Given the description of an element on the screen output the (x, y) to click on. 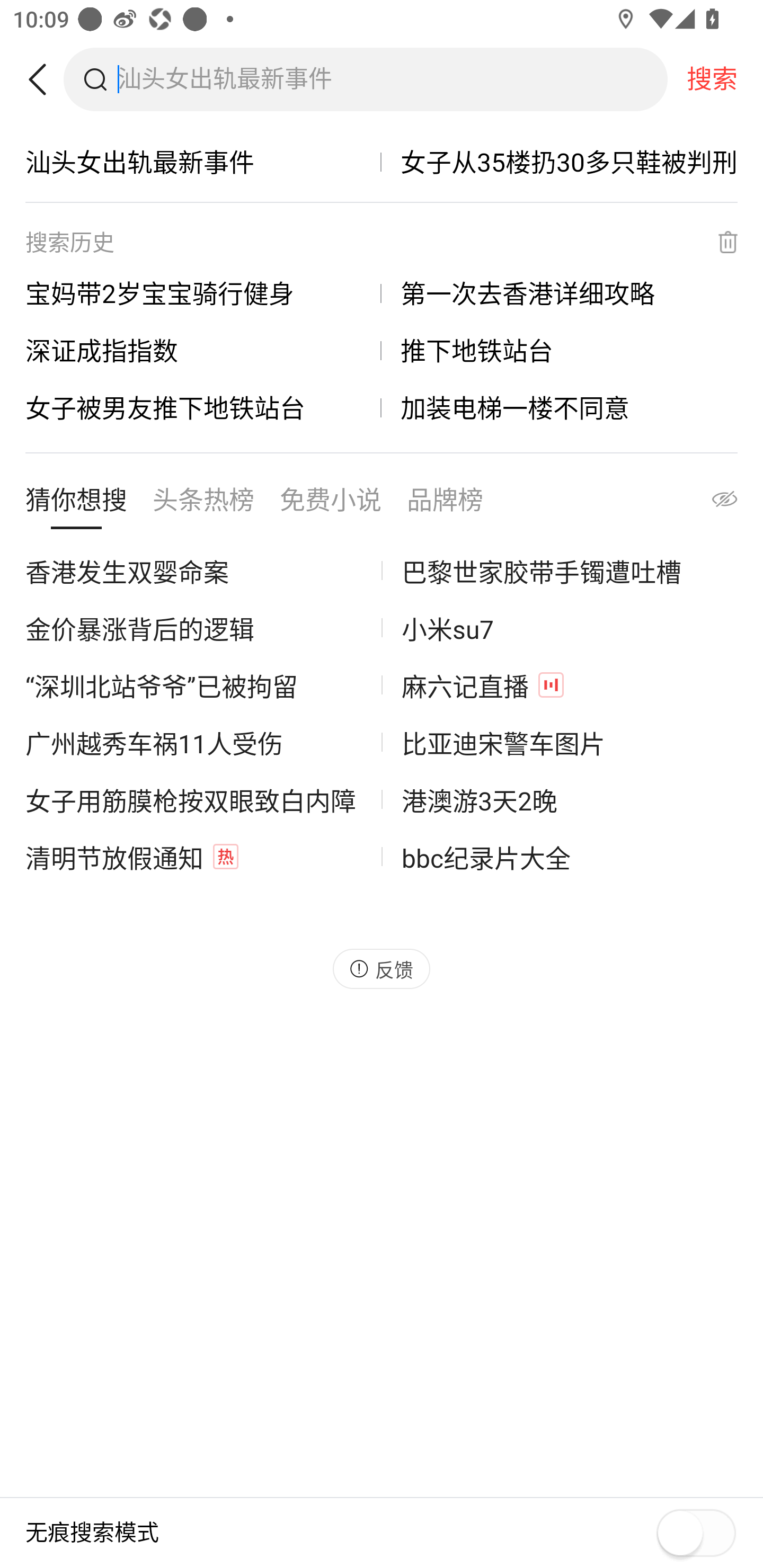
搜索框，汕头女出轨最新事件 (392, 79)
搜索 (711, 79)
返回 (44, 79)
汕头女出轨最新事件，链接, 汕头女出轨最新事件 (203, 162)
女子从35楼扔30多只鞋被判刑，链接, 女子从35楼扔30多只鞋被判刑 (559, 162)
删除搜索历史 (716, 242)
宝妈带2岁宝宝骑行健身，链接, 宝妈带2岁宝宝骑行健身 (203, 292)
第一次去香港详细攻略，链接, 第一次去香港详细攻略 (559, 292)
深证成指指数，链接, 深证成指指数 (203, 350)
推下地铁站台，链接, 推下地铁站台 (559, 350)
女子被男友推下地铁站台，链接, 女子被男友推下地铁站台 (203, 407)
加装电梯一楼不同意，链接, 加装电梯一楼不同意 (559, 407)
猜你想搜 按钮 已选中 (76, 503)
头条热榜 按钮 (203, 503)
免费小说 按钮 (330, 503)
品牌榜 按钮 (444, 503)
隐藏全部推荐词内容 按钮 (706, 503)
反馈, 按钮 (381, 968)
